Given the description of an element on the screen output the (x, y) to click on. 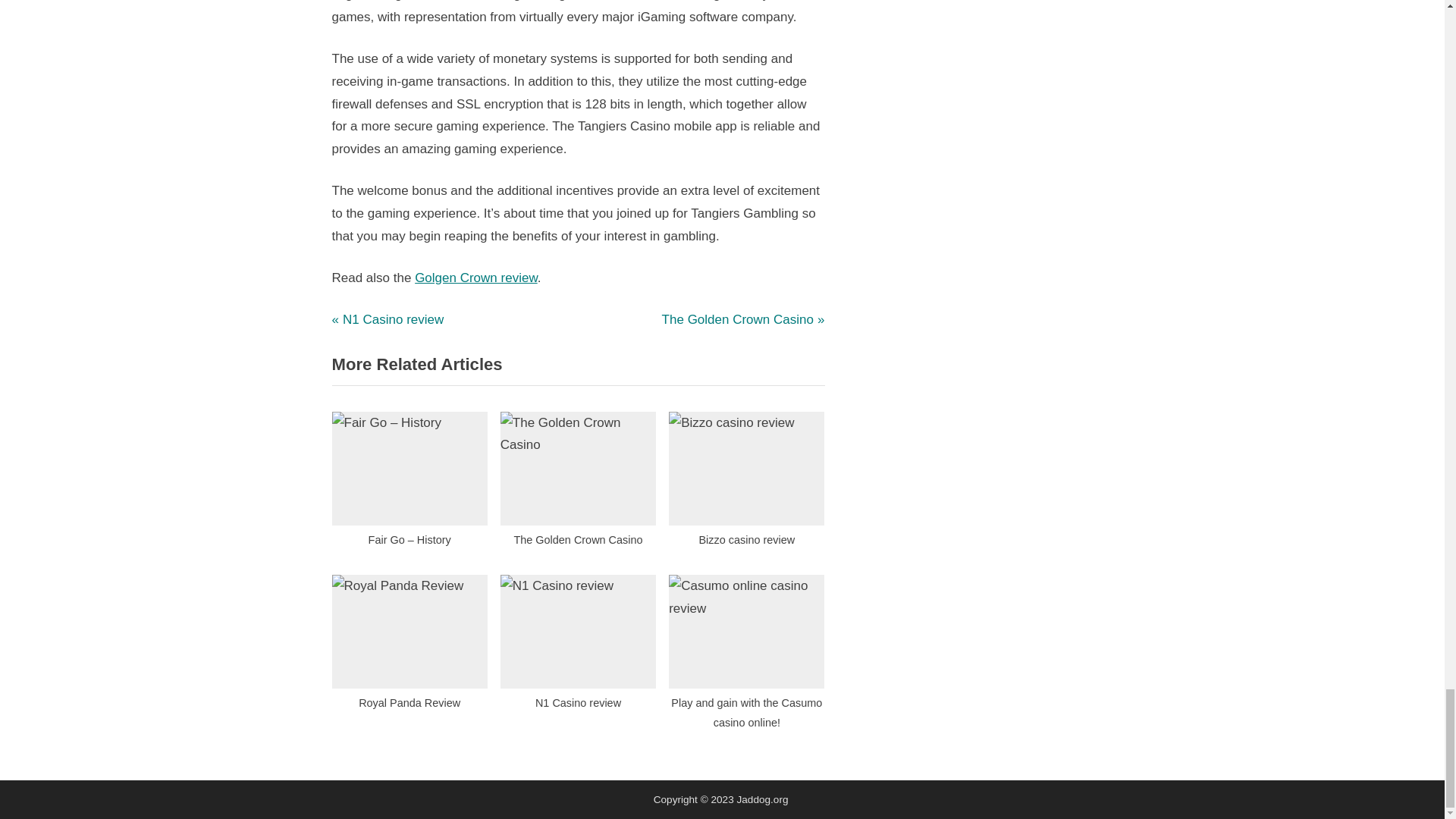
The Golden Crown Casino (387, 319)
Casino Reviews (578, 483)
Royal Panda Review (391, 315)
Play and gain with the Casumo casino online! (409, 646)
Bizzo casino review (743, 319)
Golgen Crown review (746, 646)
N1 Casino review (746, 483)
